Given the description of an element on the screen output the (x, y) to click on. 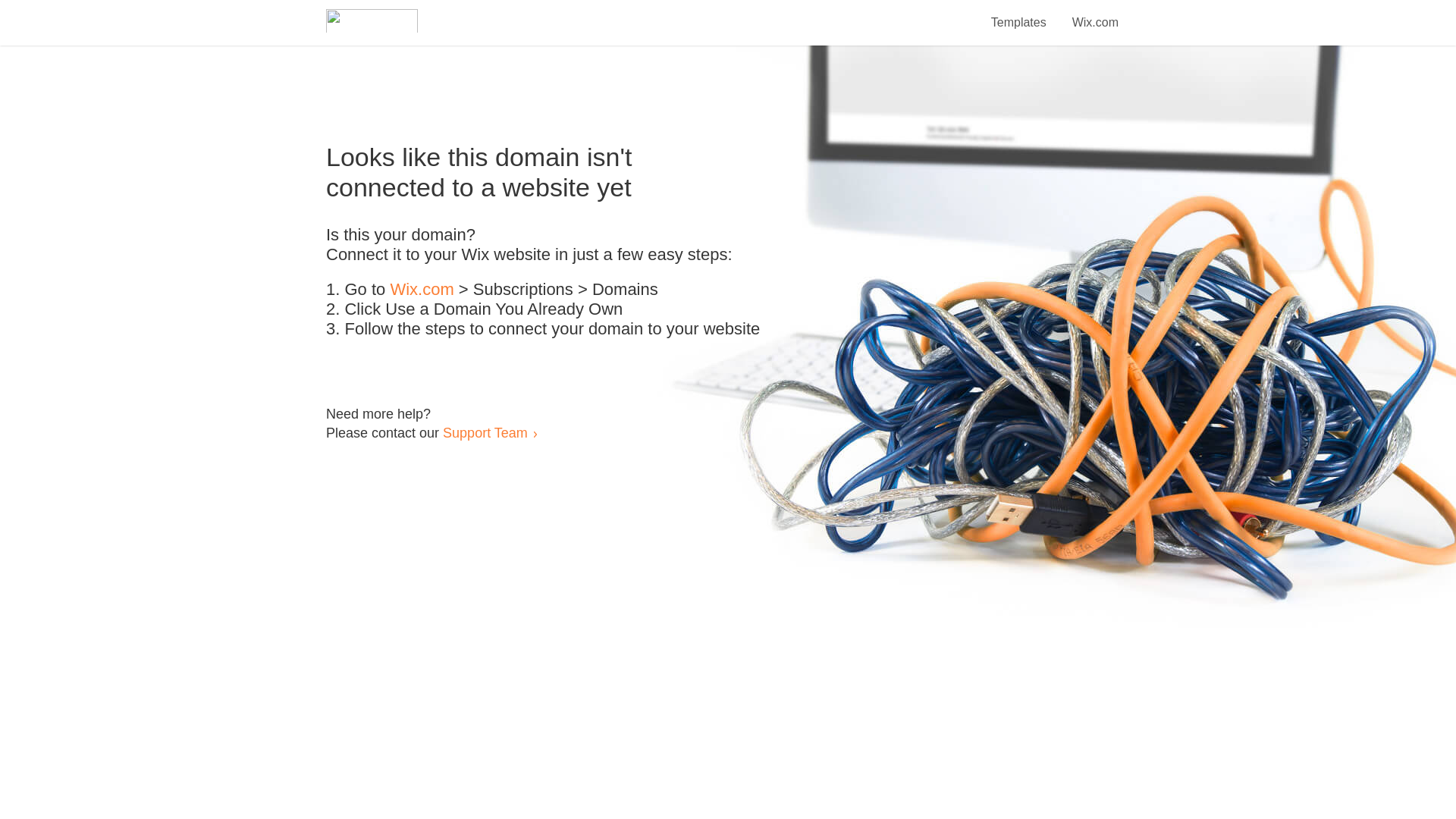
Wix.com (421, 289)
Wix.com (1095, 14)
Support Team (484, 432)
Templates (1018, 14)
